Given the description of an element on the screen output the (x, y) to click on. 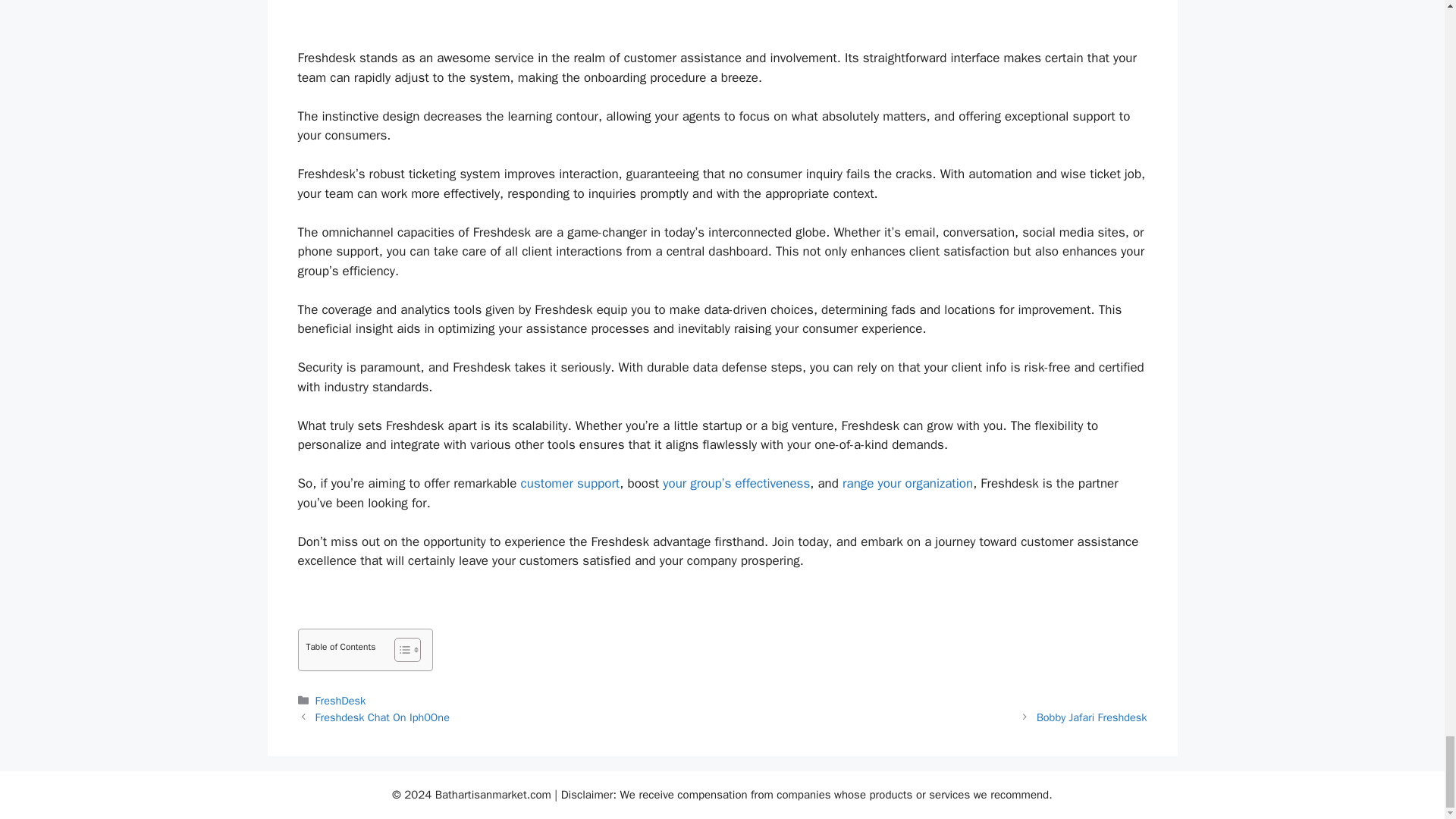
FreshDesk (340, 700)
Freshdesk Chat On Iph0One (382, 716)
customer support (570, 483)
range your organization (907, 483)
Bobby Jafari Freshdesk (1091, 716)
